Given the description of an element on the screen output the (x, y) to click on. 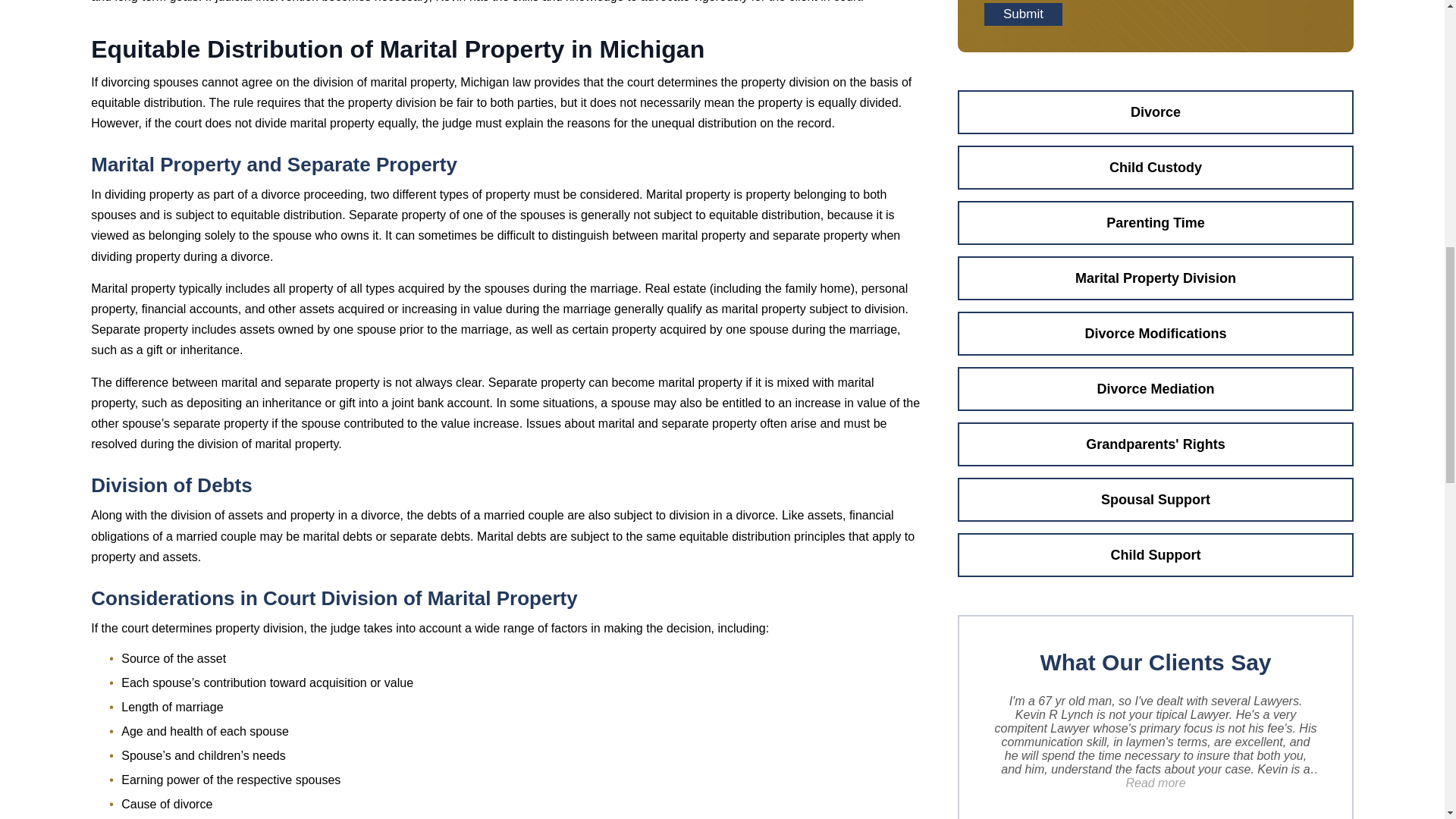
Read More about Child Custody (1156, 167)
Read More about Grandparents' Rights (1156, 444)
Read More about Marital Property Division (1156, 278)
Read More about Spousal Support (1156, 499)
Read More about Child Support (1156, 555)
Read More about Divorce Mediation (1156, 388)
Read More about Divorce (1156, 112)
Read More about Divorce Modifications (1156, 333)
Read More about Parenting Time (1156, 222)
